Given the description of an element on the screen output the (x, y) to click on. 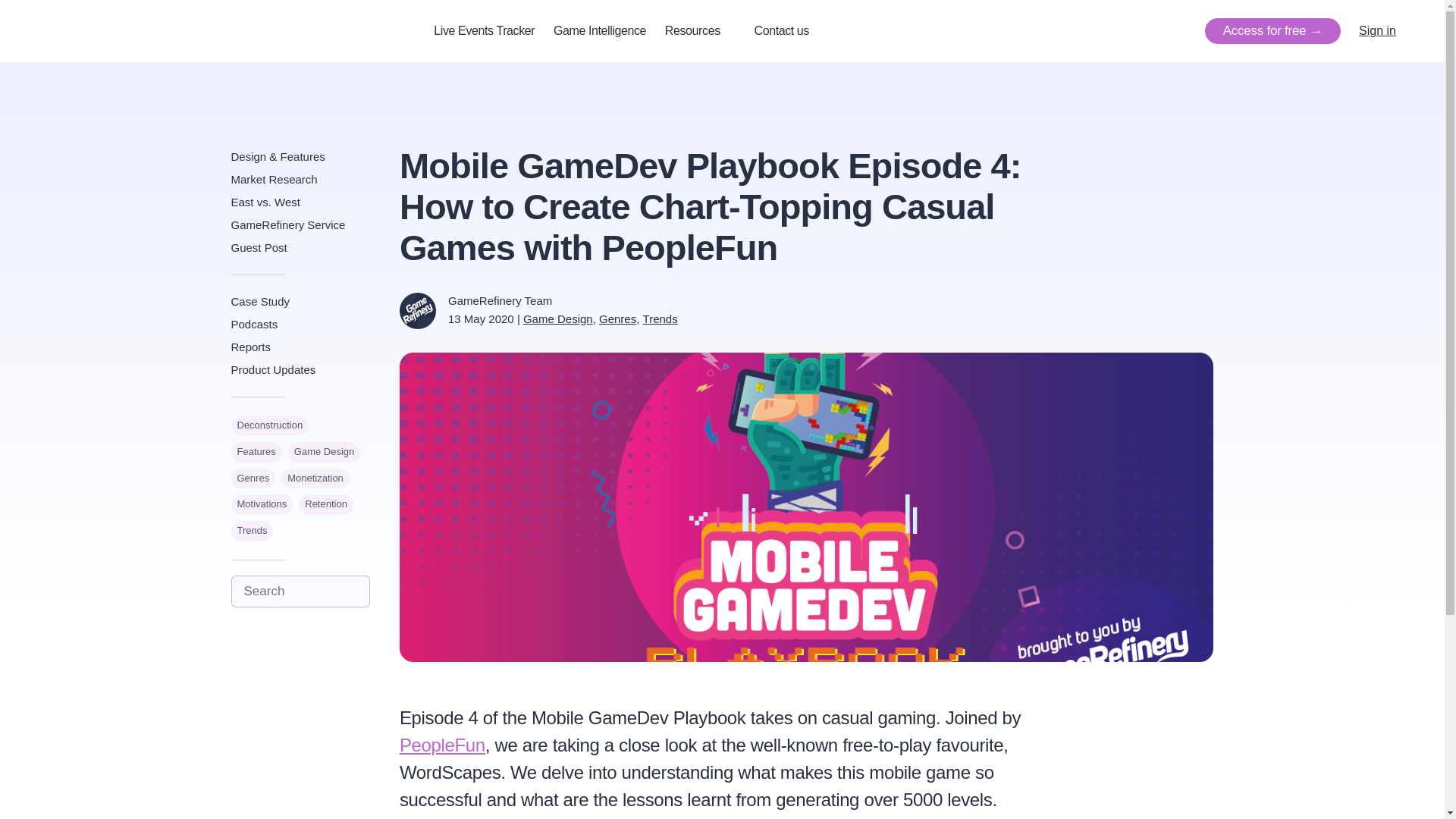
Game Design (323, 452)
PeopleFun (441, 744)
GameRefinery Service (299, 224)
Contact us (784, 30)
Sign in (1377, 30)
Product Updates (299, 369)
Case Study (299, 301)
Access for free (1272, 31)
Features (255, 452)
East vs. West (299, 201)
Live Events Tracker (483, 30)
Podcasts (299, 323)
Market Research (299, 179)
Genres (617, 318)
Genres (252, 478)
